Given the description of an element on the screen output the (x, y) to click on. 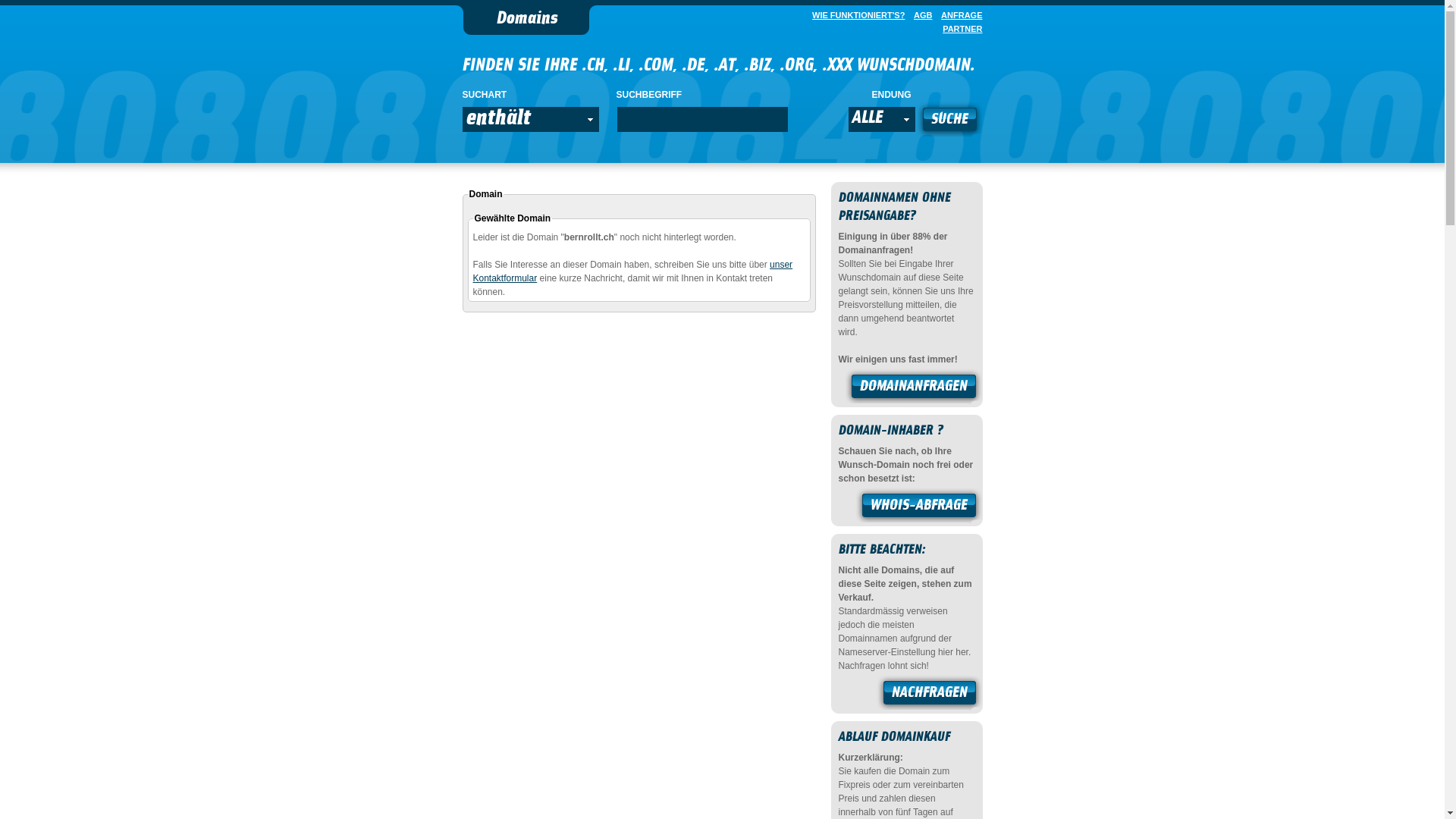
SUCHE Element type: text (949, 121)
AGB Element type: text (919, 14)
WHOIS-ABFRAGE Element type: text (918, 507)
WIE FUNKTIONIERT'S? Element type: text (855, 14)
Domains Element type: text (526, 19)
NACHFRAGEN Element type: text (929, 694)
DOMAINANFRAGEN Element type: text (913, 387)
PARTNER Element type: text (959, 28)
ANFRAGE Element type: text (958, 14)
unser Kontaktformular Element type: text (633, 271)
